Given the description of an element on the screen output the (x, y) to click on. 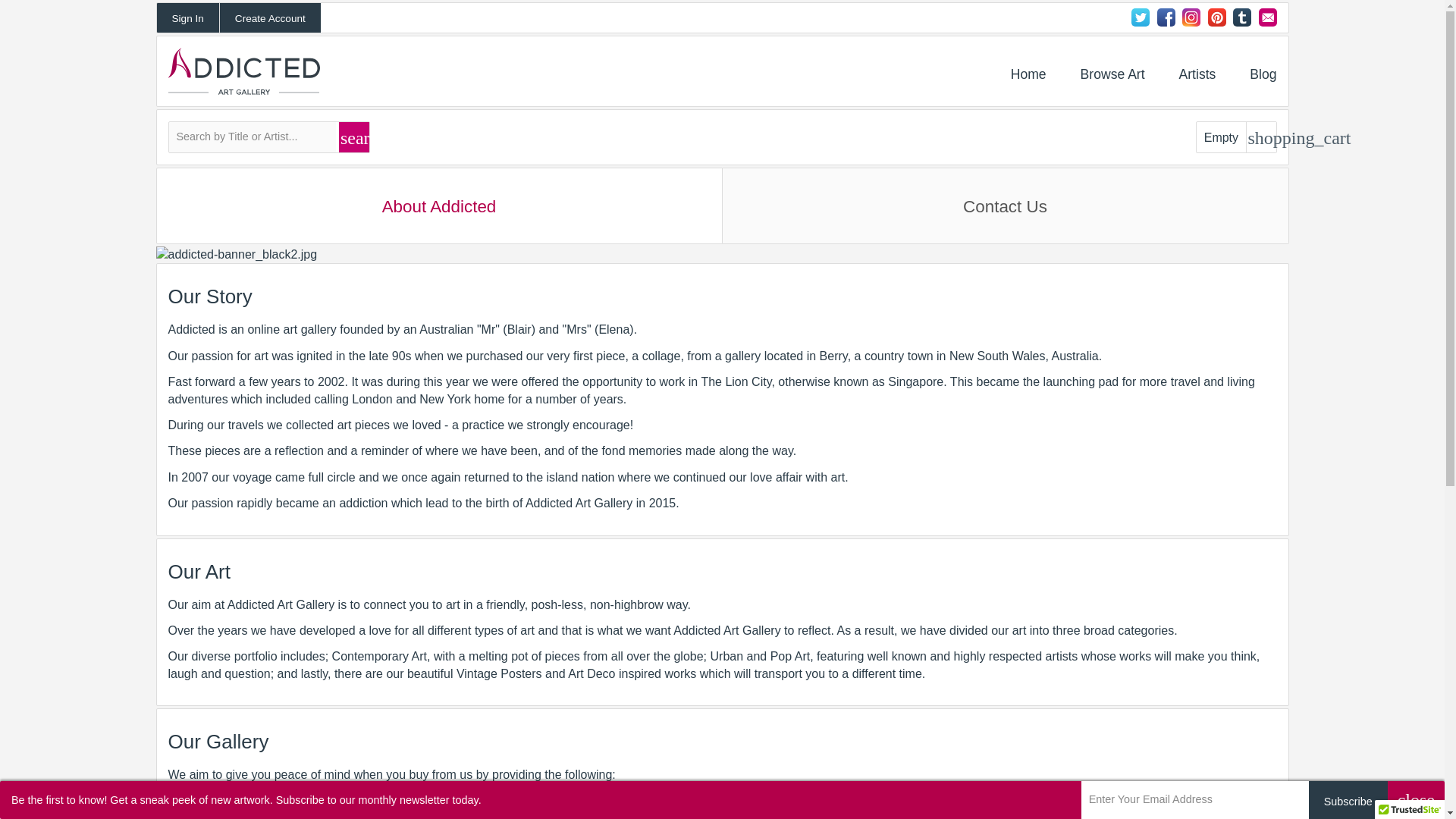
Twitter (1140, 17)
Contact (1267, 17)
Subscribe (1347, 800)
Contact Us (1005, 205)
About Addicted (438, 205)
Browse Art (1112, 74)
Subscribe (1347, 800)
Facebook (1165, 17)
Create Account (269, 17)
Home (1028, 74)
Sign In (186, 17)
Artists (1197, 74)
Pinterest (1216, 17)
Instagram (1190, 17)
Tumblr (1241, 17)
